Given the description of an element on the screen output the (x, y) to click on. 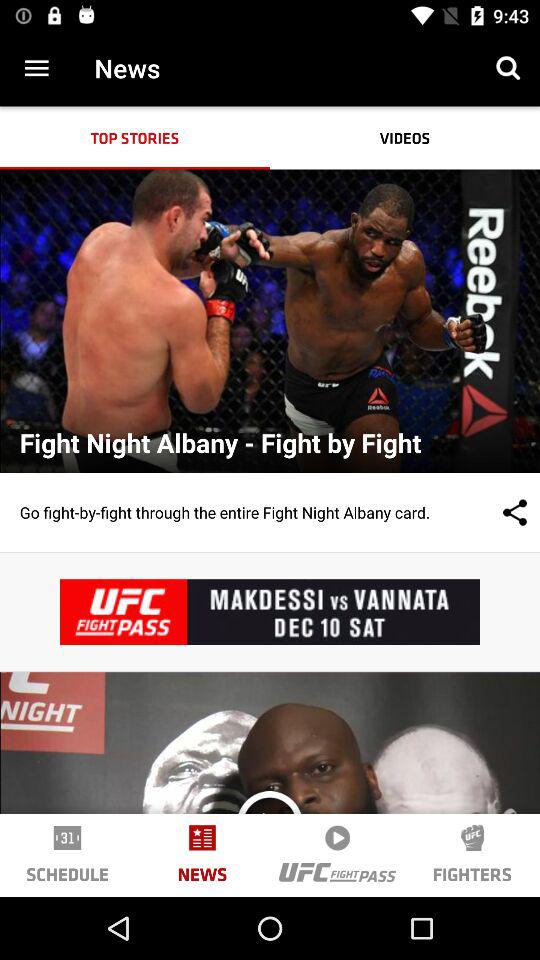
open the item next to go fight by item (495, 512)
